Given the description of an element on the screen output the (x, y) to click on. 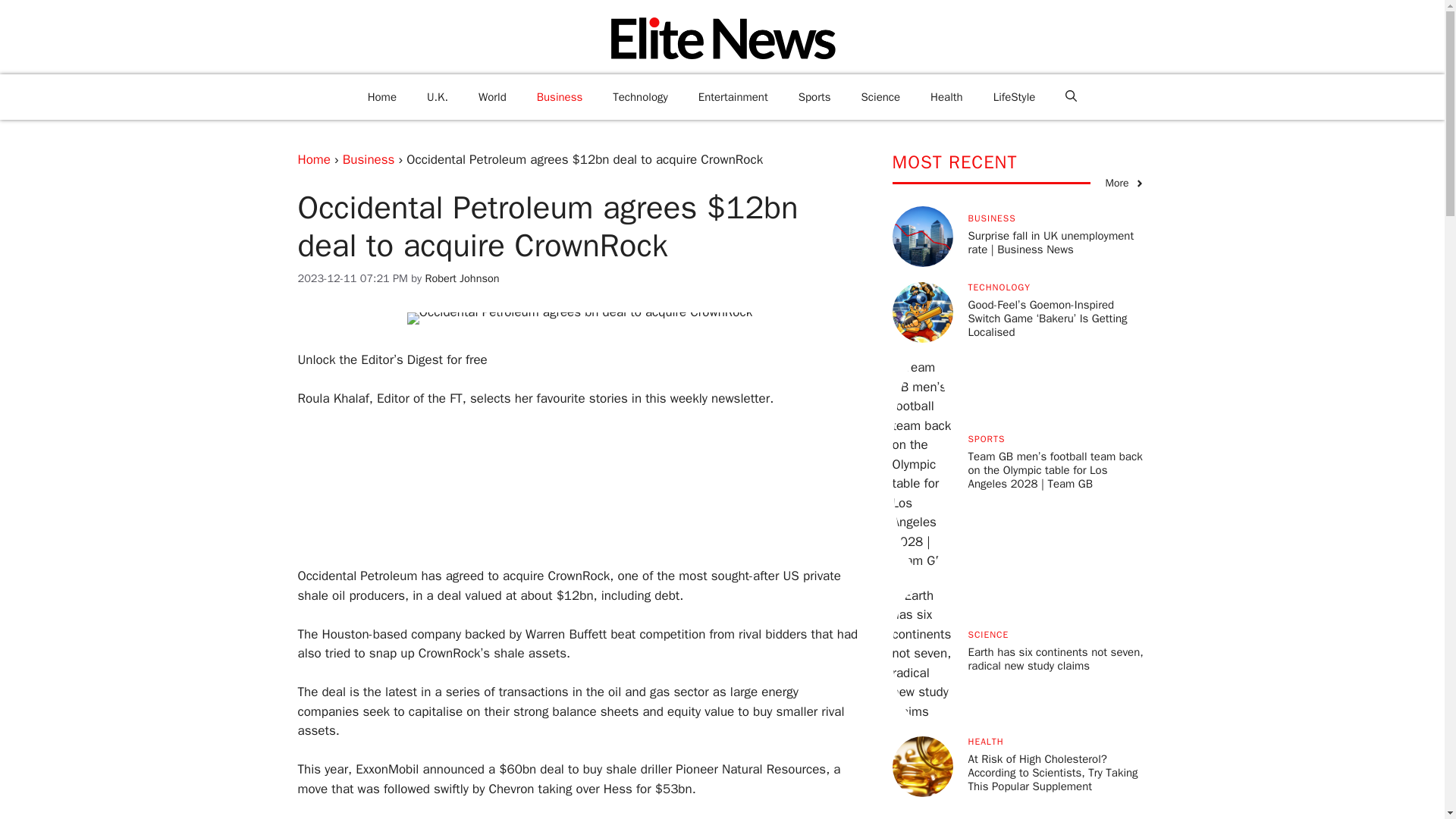
Technology (639, 96)
LifeStyle (1014, 96)
View all posts by Robert Johnson (462, 278)
Health (946, 96)
U.K. (437, 96)
Robert Johnson (462, 278)
Home (313, 159)
Occidental Petroleum agrees bn deal to acquire CrownRock (579, 318)
Science (880, 96)
Business (368, 159)
